Given the description of an element on the screen output the (x, y) to click on. 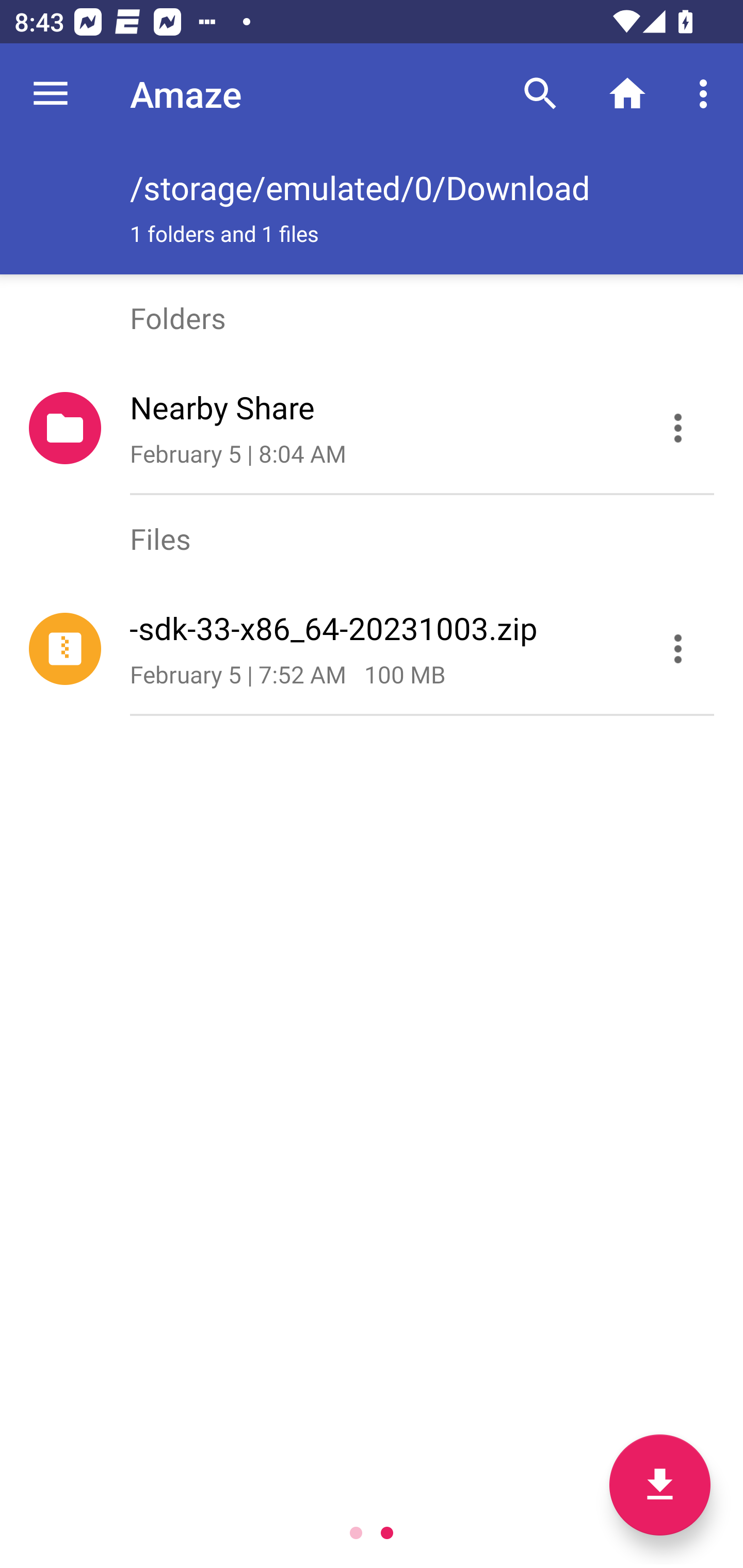
Navigate up (50, 93)
Search (540, 93)
Home (626, 93)
More options (706, 93)
Nearby Share February 5 | 8:04 AM (371, 427)
